Given the description of an element on the screen output the (x, y) to click on. 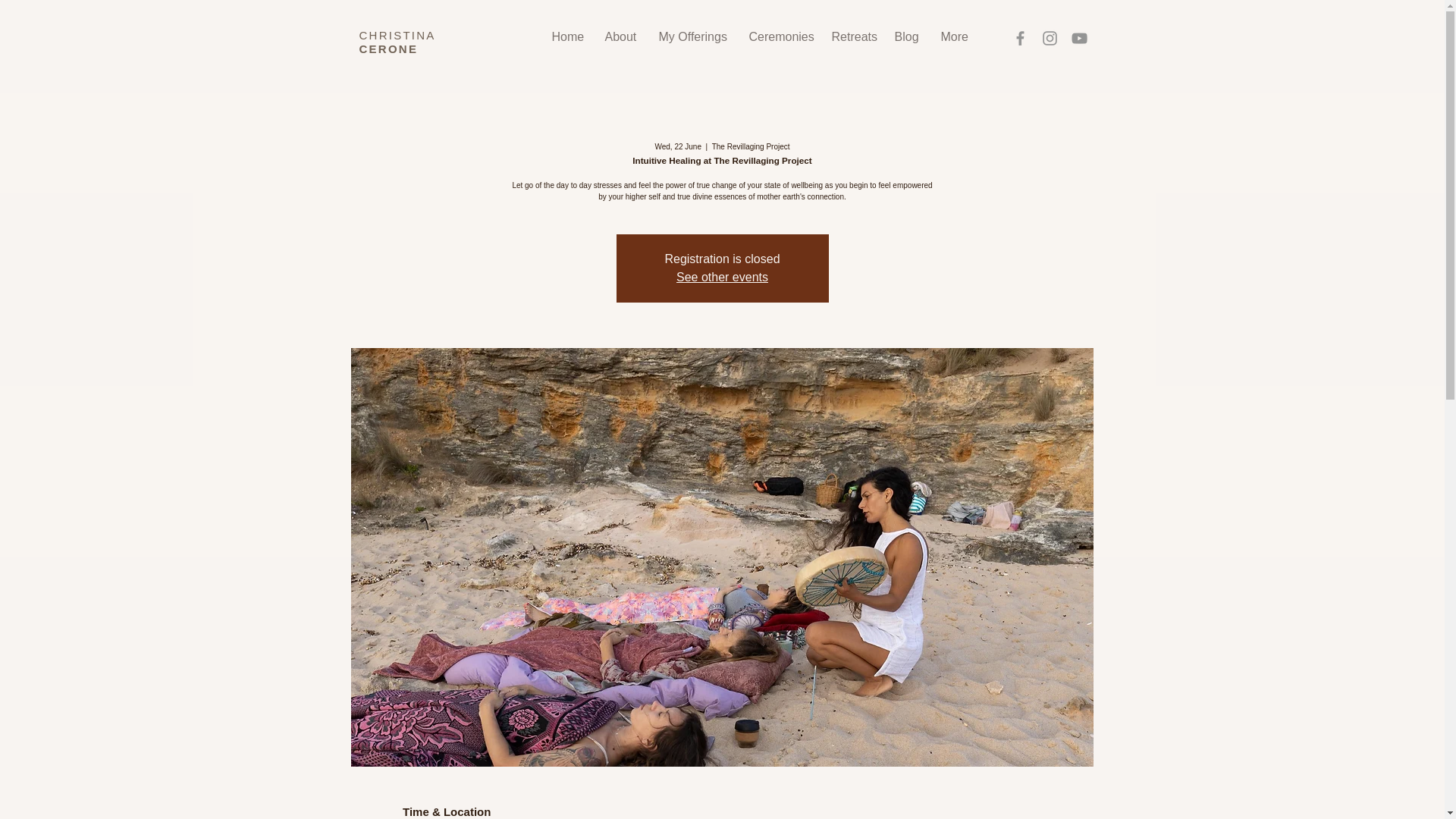
About (619, 36)
Retreats (852, 36)
Home (566, 36)
See other events (722, 277)
My Offerings (692, 36)
Blog (905, 36)
Ceremonies (777, 36)
